Given the description of an element on the screen output the (x, y) to click on. 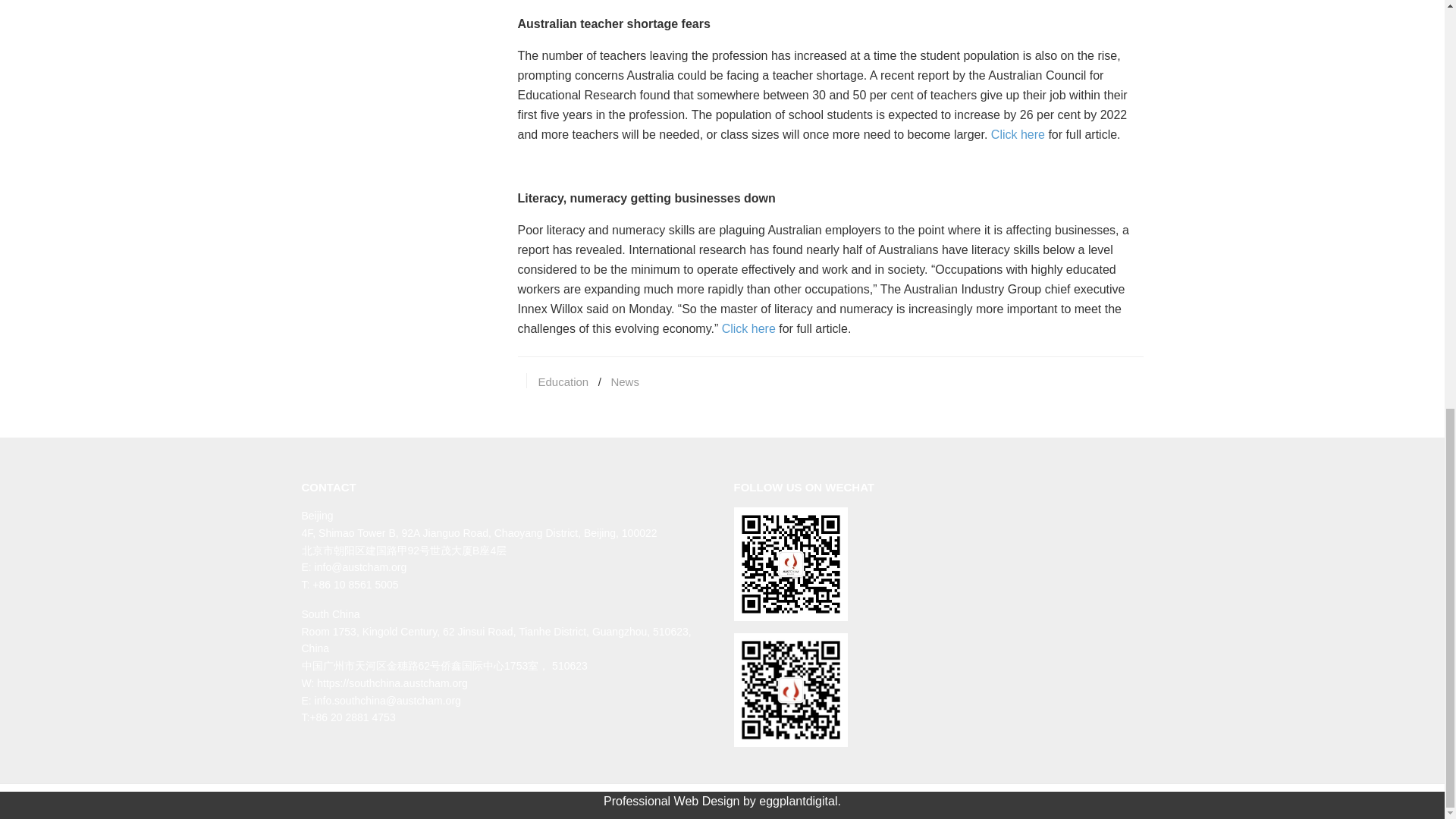
Education (563, 381)
Click here (749, 328)
News (624, 381)
Click here (1018, 133)
Professional Web Design (671, 800)
